Given the description of an element on the screen output the (x, y) to click on. 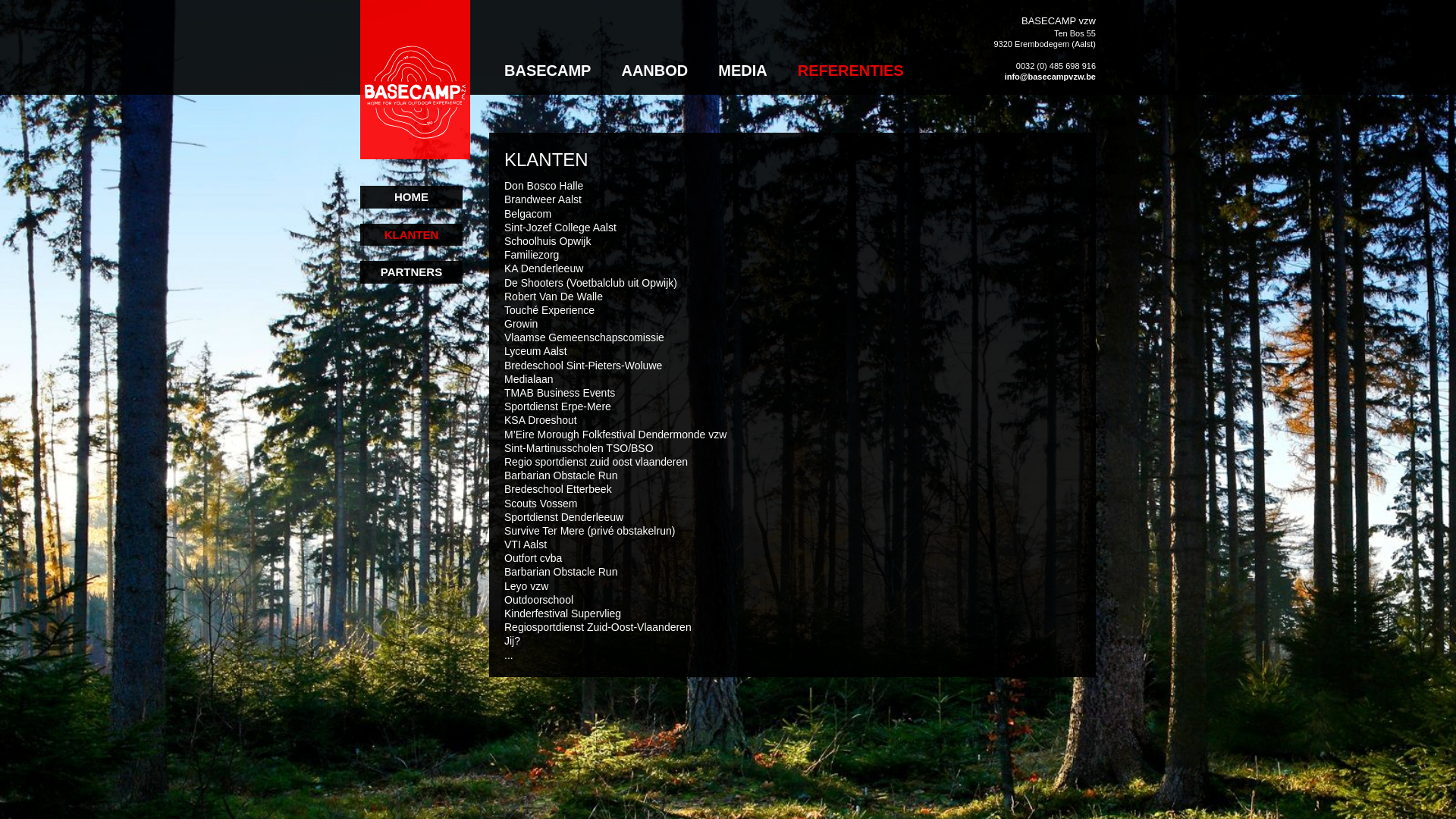
KLANTEN Element type: text (411, 233)
HOME Element type: text (411, 196)
BASECAMP Element type: text (547, 47)
AANBOD Element type: text (653, 47)
MEDIA Element type: text (741, 47)
PARTNERS Element type: text (411, 271)
info@basecampvzw.be Element type: text (1049, 76)
REFERENTIES Element type: text (850, 47)
